Given the description of an element on the screen output the (x, y) to click on. 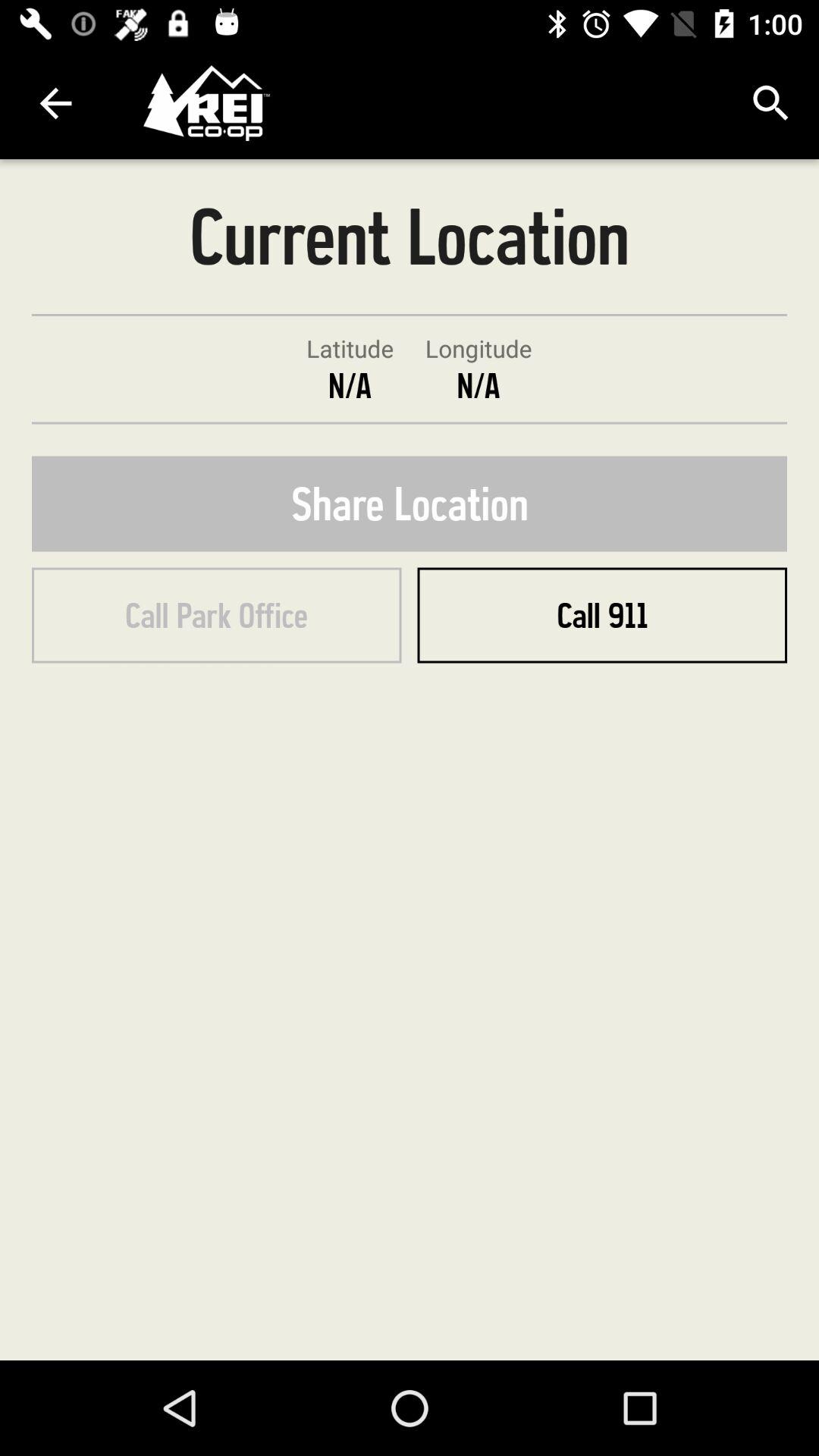
tap the item at the top right corner (771, 103)
